Given the description of an element on the screen output the (x, y) to click on. 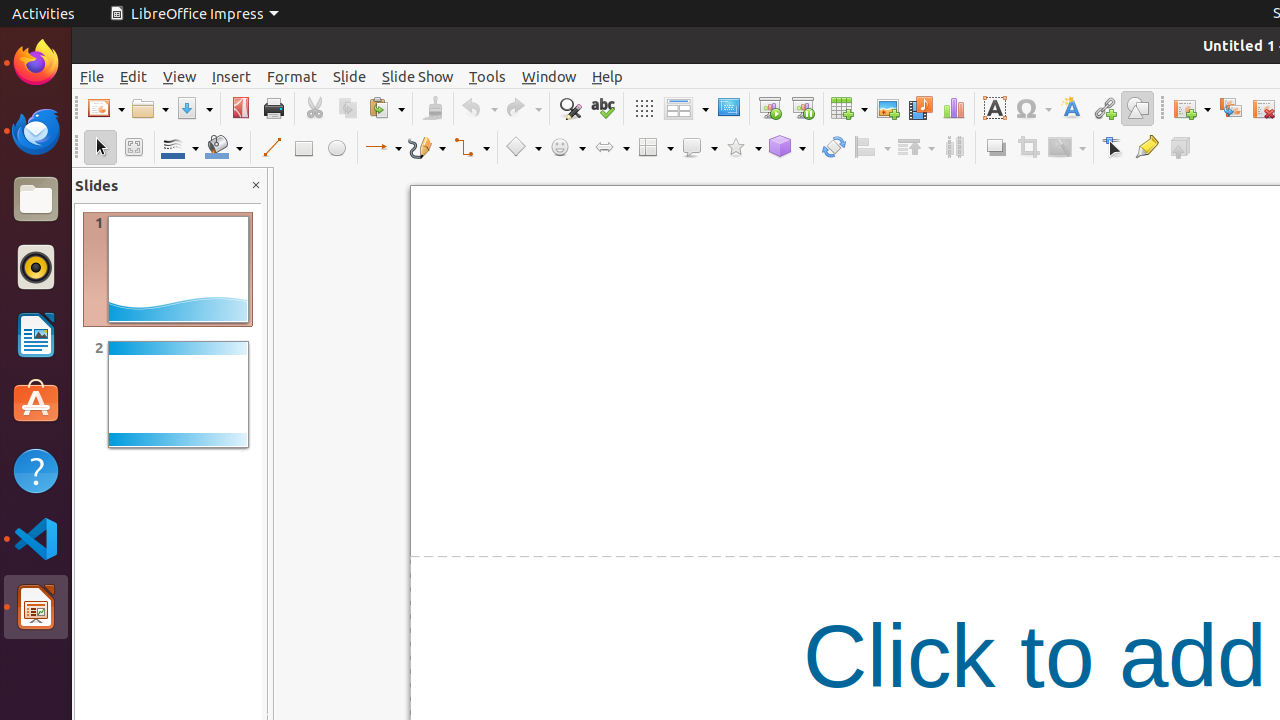
Distribution Element type: push-button (954, 147)
Paste Element type: push-button (386, 108)
3D Objects Element type: push-button (787, 147)
Find & Replace Element type: toggle-button (569, 108)
Star Shapes Element type: push-button (743, 147)
